Given the description of an element on the screen output the (x, y) to click on. 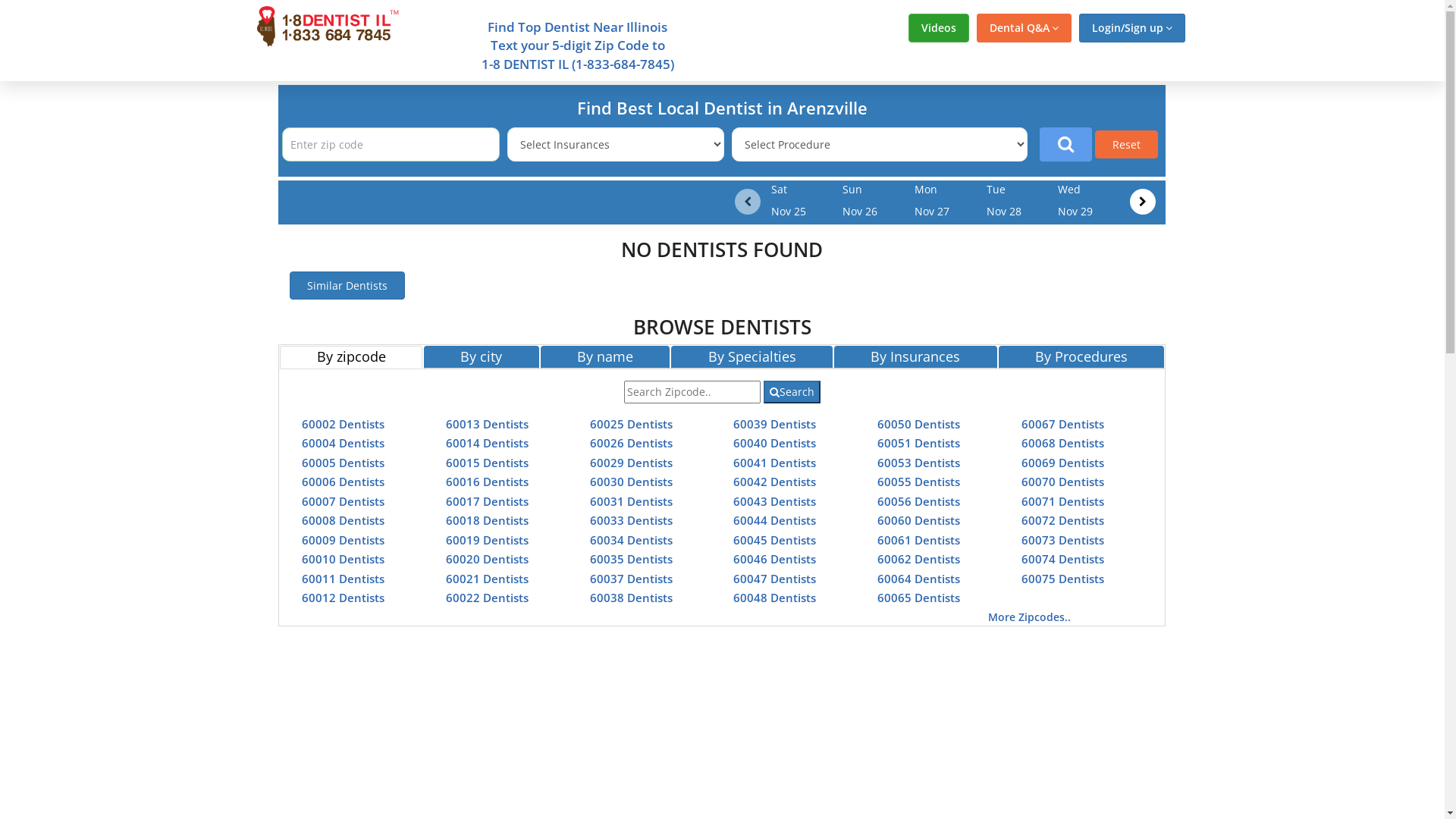
By name Element type: text (605, 356)
60025 Dentists Element type: text (630, 422)
Search Element type: text (791, 391)
60002 Dentists Element type: text (342, 422)
60018 Dentists Element type: text (486, 519)
Advertisement Element type: hover (1313, 308)
60040 Dentists Element type: text (774, 442)
60016 Dentists Element type: text (486, 481)
60072 Dentists Element type: text (1062, 519)
60013 Dentists Element type: text (486, 422)
60045 Dentists Element type: text (774, 539)
60055 Dentists Element type: text (918, 481)
60012 Dentists Element type: text (342, 597)
By city Element type: text (481, 356)
By zipcode Element type: text (350, 356)
60062 Dentists Element type: text (918, 558)
60041 Dentists Element type: text (774, 462)
60033 Dentists Element type: text (630, 519)
60048 Dentists Element type: text (774, 597)
60061 Dentists Element type: text (918, 539)
60031 Dentists Element type: text (630, 500)
60034 Dentists Element type: text (630, 539)
60007 Dentists Element type: text (342, 500)
By Specialties Element type: text (751, 356)
60051 Dentists Element type: text (918, 442)
60006 Dentists Element type: text (342, 481)
60037 Dentists Element type: text (630, 577)
60030 Dentists Element type: text (630, 481)
60042 Dentists Element type: text (774, 481)
60075 Dentists Element type: text (1062, 577)
60071 Dentists Element type: text (1062, 500)
60065 Dentists Element type: text (918, 597)
60053 Dentists Element type: text (918, 462)
60019 Dentists Element type: text (486, 539)
60060 Dentists Element type: text (918, 519)
60047 Dentists Element type: text (774, 577)
60064 Dentists Element type: text (918, 577)
60005 Dentists Element type: text (342, 462)
60073 Dentists Element type: text (1062, 539)
60074 Dentists Element type: text (1062, 558)
60008 Dentists Element type: text (342, 519)
By Insurances Element type: text (915, 356)
60068 Dentists Element type: text (1062, 442)
60070 Dentists Element type: text (1062, 481)
60004 Dentists Element type: text (342, 442)
Dental Q&A Element type: text (1023, 27)
60026 Dentists Element type: text (630, 442)
Login/Sign up Element type: text (1131, 27)
Similar Dentists Element type: text (346, 285)
60017 Dentists Element type: text (486, 500)
60067 Dentists Element type: text (1062, 422)
60011 Dentists Element type: text (342, 577)
60014 Dentists Element type: text (486, 442)
60050 Dentists Element type: text (918, 422)
60021 Dentists Element type: text (486, 577)
60043 Dentists Element type: text (774, 500)
60015 Dentists Element type: text (486, 462)
60069 Dentists Element type: text (1062, 462)
60056 Dentists Element type: text (918, 500)
60039 Dentists Element type: text (774, 422)
More Zipcodes.. Element type: text (1029, 616)
60046 Dentists Element type: text (774, 558)
60029 Dentists Element type: text (630, 462)
Advertisement Element type: hover (129, 308)
60035 Dentists Element type: text (630, 558)
Videos Element type: text (938, 27)
Reset Element type: text (1126, 144)
60044 Dentists Element type: text (774, 519)
60038 Dentists Element type: text (630, 597)
60010 Dentists Element type: text (342, 558)
60022 Dentists Element type: text (486, 597)
60020 Dentists Element type: text (486, 558)
By Procedures Element type: text (1081, 356)
60009 Dentists Element type: text (342, 539)
